Given the description of an element on the screen output the (x, y) to click on. 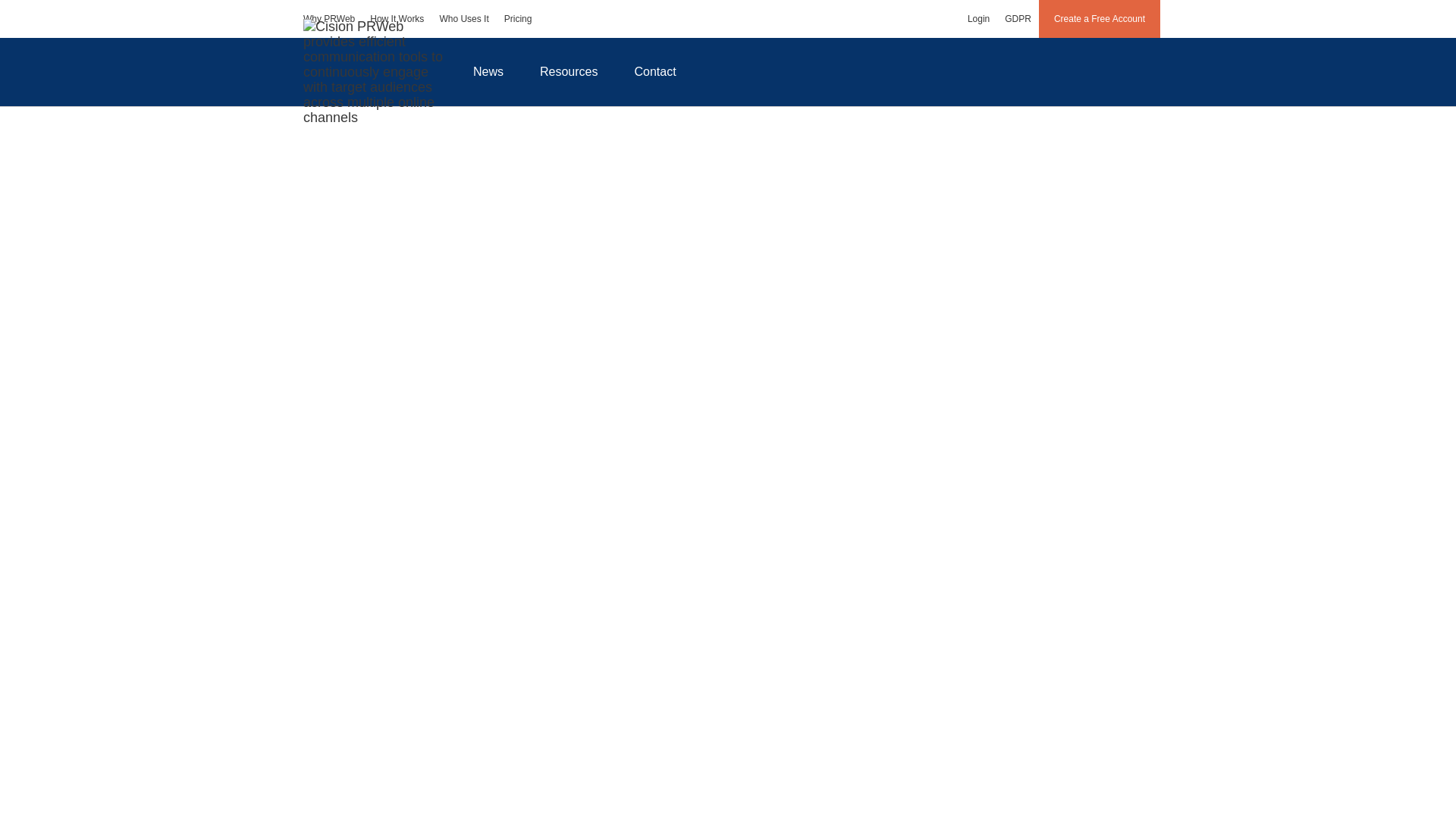
Contact (654, 71)
News (487, 71)
Create a Free Account (1099, 18)
Login (978, 18)
GDPR (1018, 18)
Who Uses It (463, 18)
Why PRWeb (328, 18)
Resources (568, 71)
Pricing (518, 18)
How It Works (396, 18)
